Given the description of an element on the screen output the (x, y) to click on. 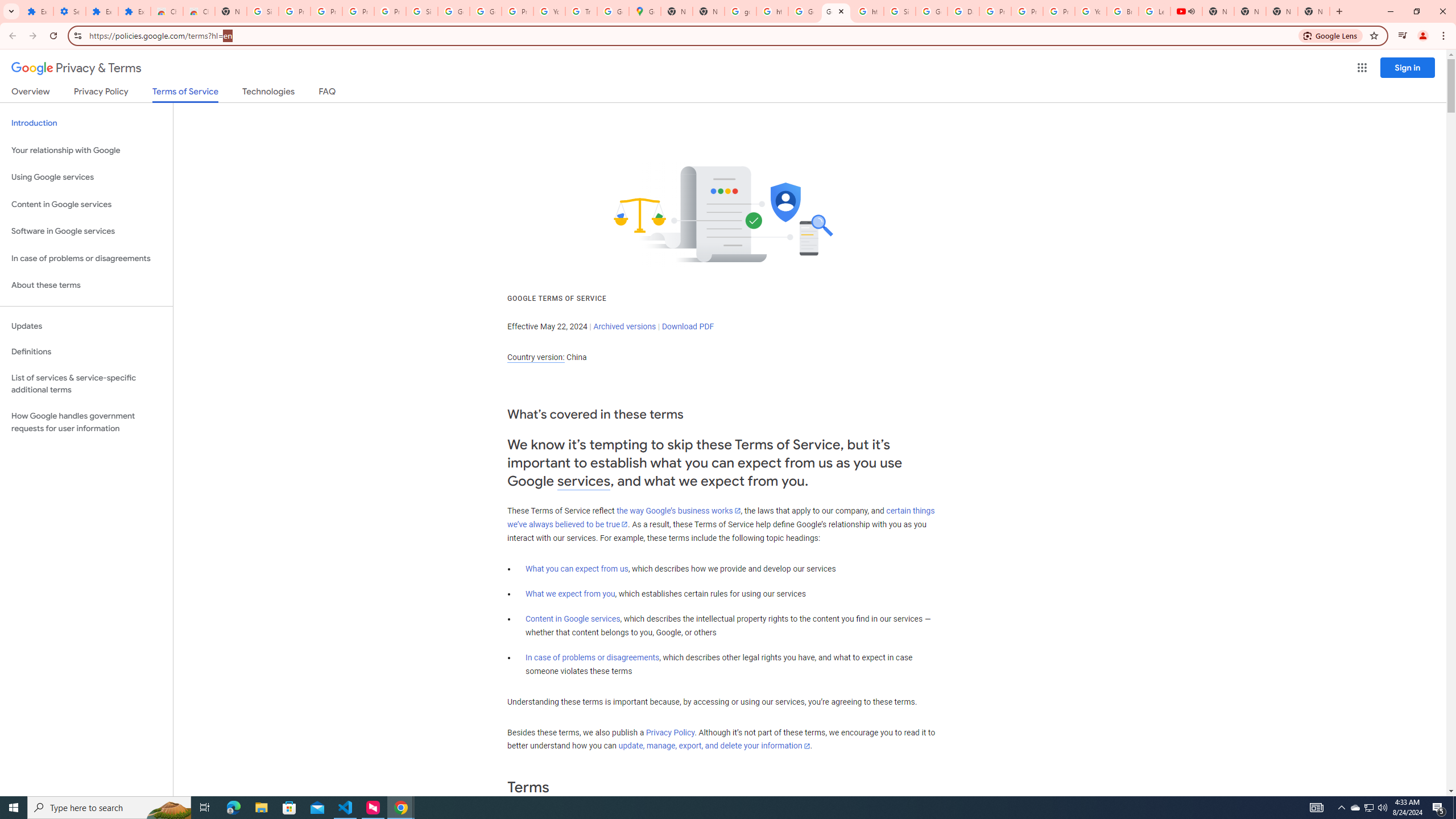
Your relationship with Google (86, 150)
Extensions (37, 11)
https://scholar.google.com/ (772, 11)
Chrome Web Store - Themes (198, 11)
Sign in - Google Accounts (421, 11)
